Given the description of an element on the screen output the (x, y) to click on. 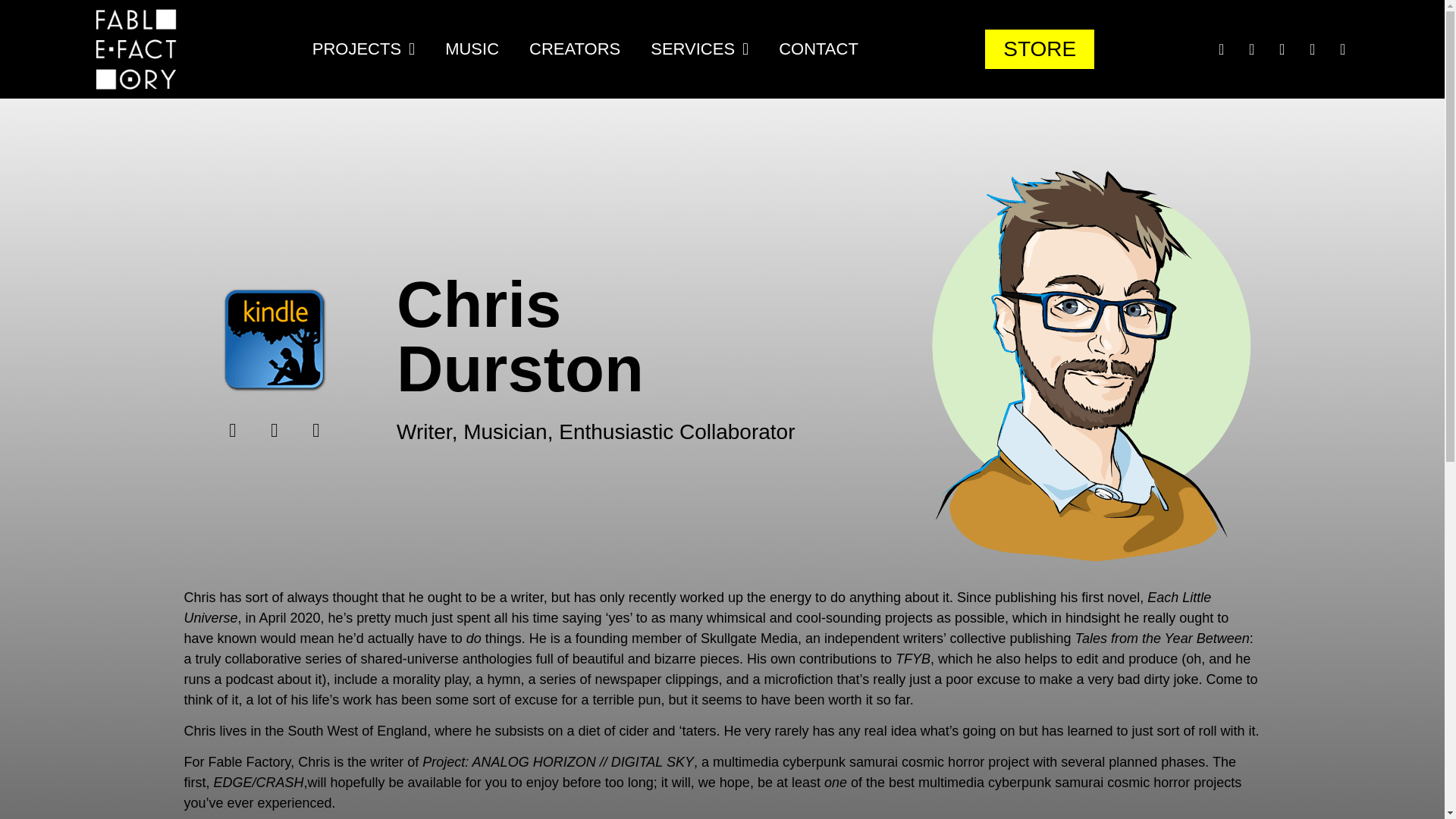
CONTACT (817, 49)
STORE (1039, 48)
CREATORS (573, 49)
SERVICES (698, 49)
PROJECTS (363, 49)
MUSIC (471, 49)
